Given the description of an element on the screen output the (x, y) to click on. 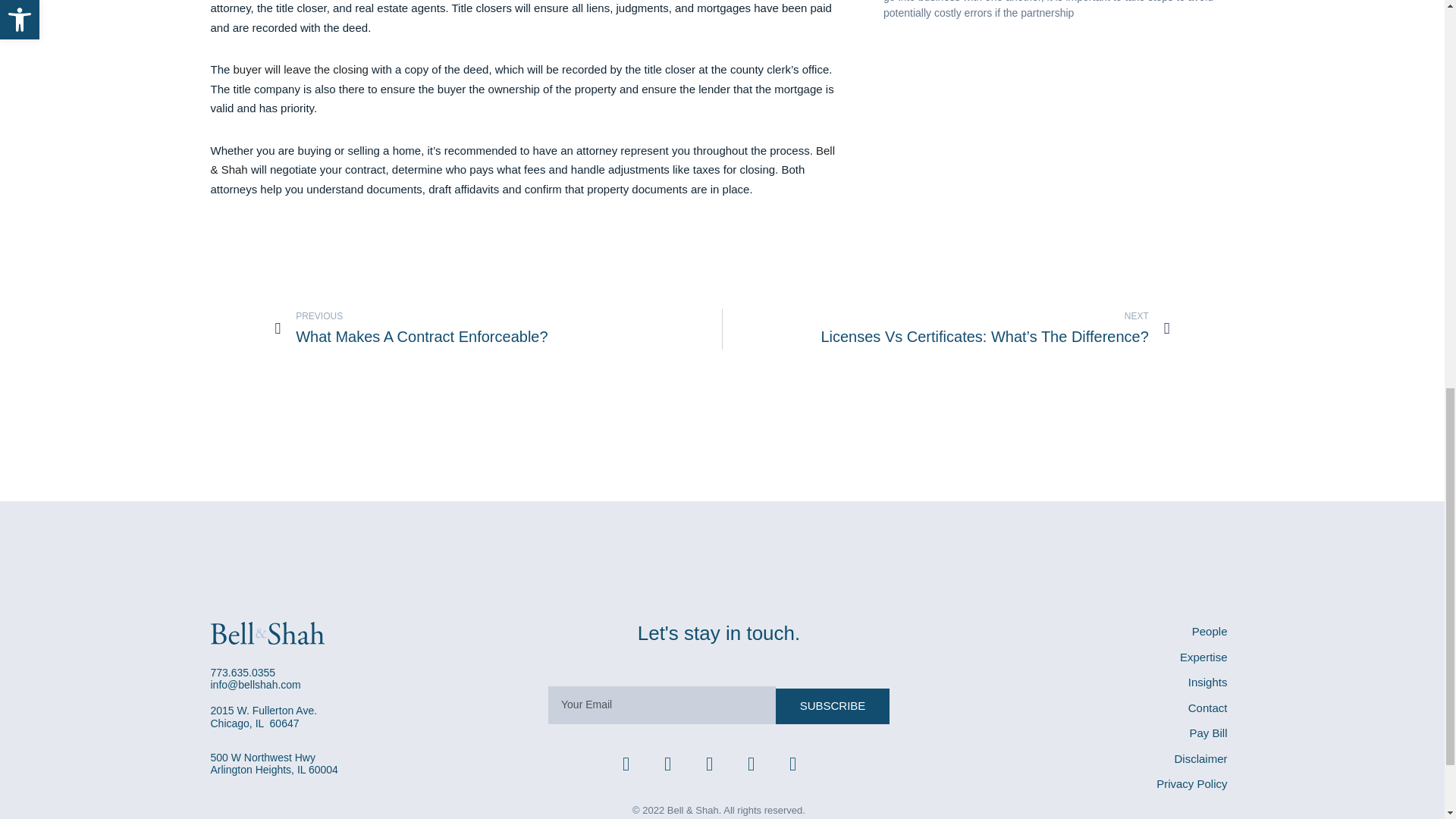
buyer will leave the closing (498, 328)
